Given the description of an element on the screen output the (x, y) to click on. 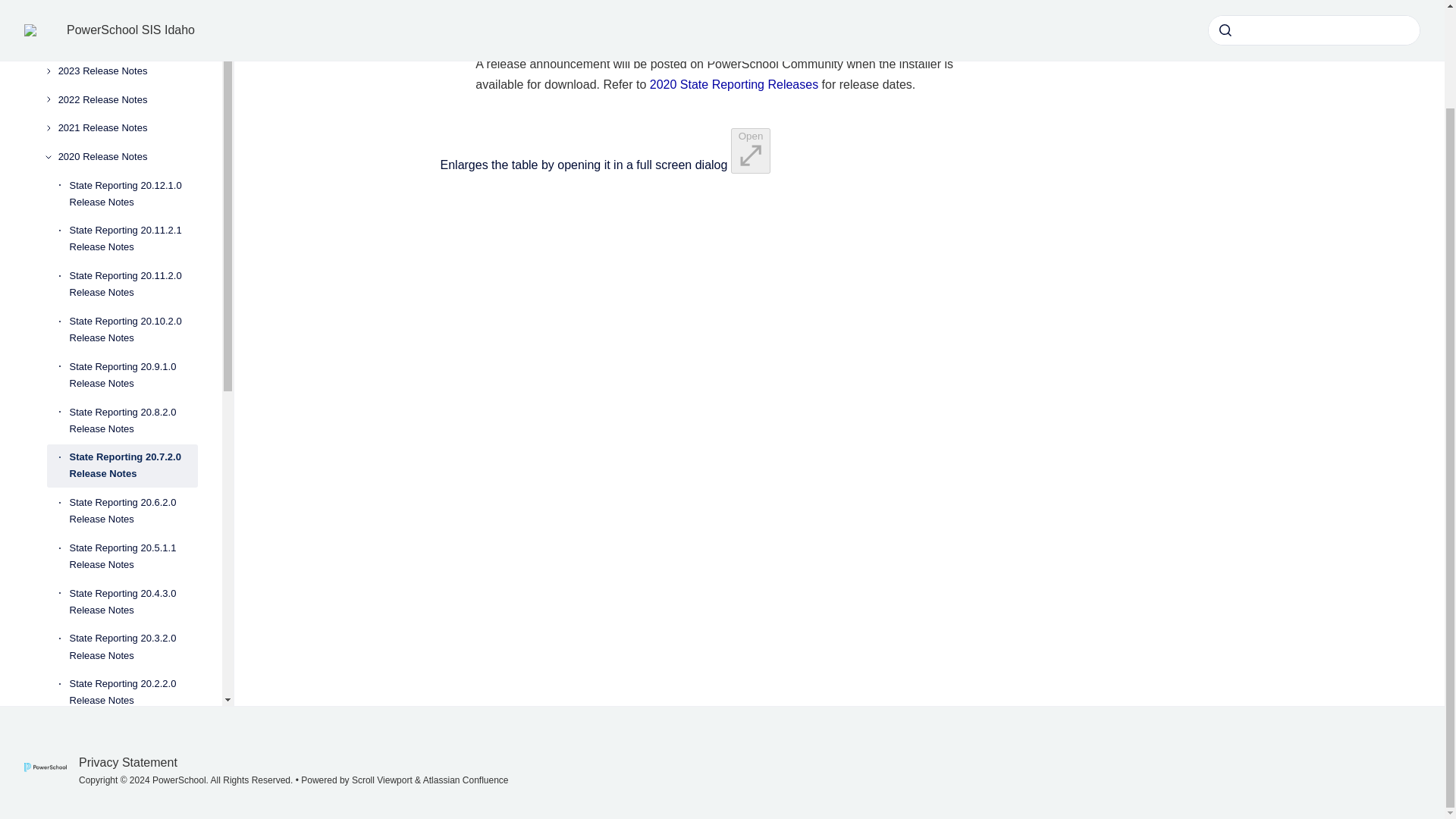
State Reporting 20.4.3.0 Release Notes (133, 601)
State Reporting 20.2.2.0 Release Notes (133, 692)
State Reporting 20.3.2.0 Release Notes (133, 647)
State Reporting 20.11.2.1 Release Notes (133, 239)
2023 Release Notes (128, 71)
State Reporting 20.5.1.1 Release Notes (133, 556)
2022 Release Notes (128, 99)
Release Notes (122, 13)
State Reporting 20.6.2.0 Release Notes (133, 510)
Idaho Start of Year Checklist (122, 774)
State Reporting 20.1.2.0 Release Notes (133, 737)
State Reporting 20.7.2.0 Release Notes (133, 466)
State Reporting 20.11.2.0 Release Notes (133, 284)
State Reporting 20.10.2.0 Release Notes (133, 329)
2024 Release Notes (128, 42)
